Given the description of an element on the screen output the (x, y) to click on. 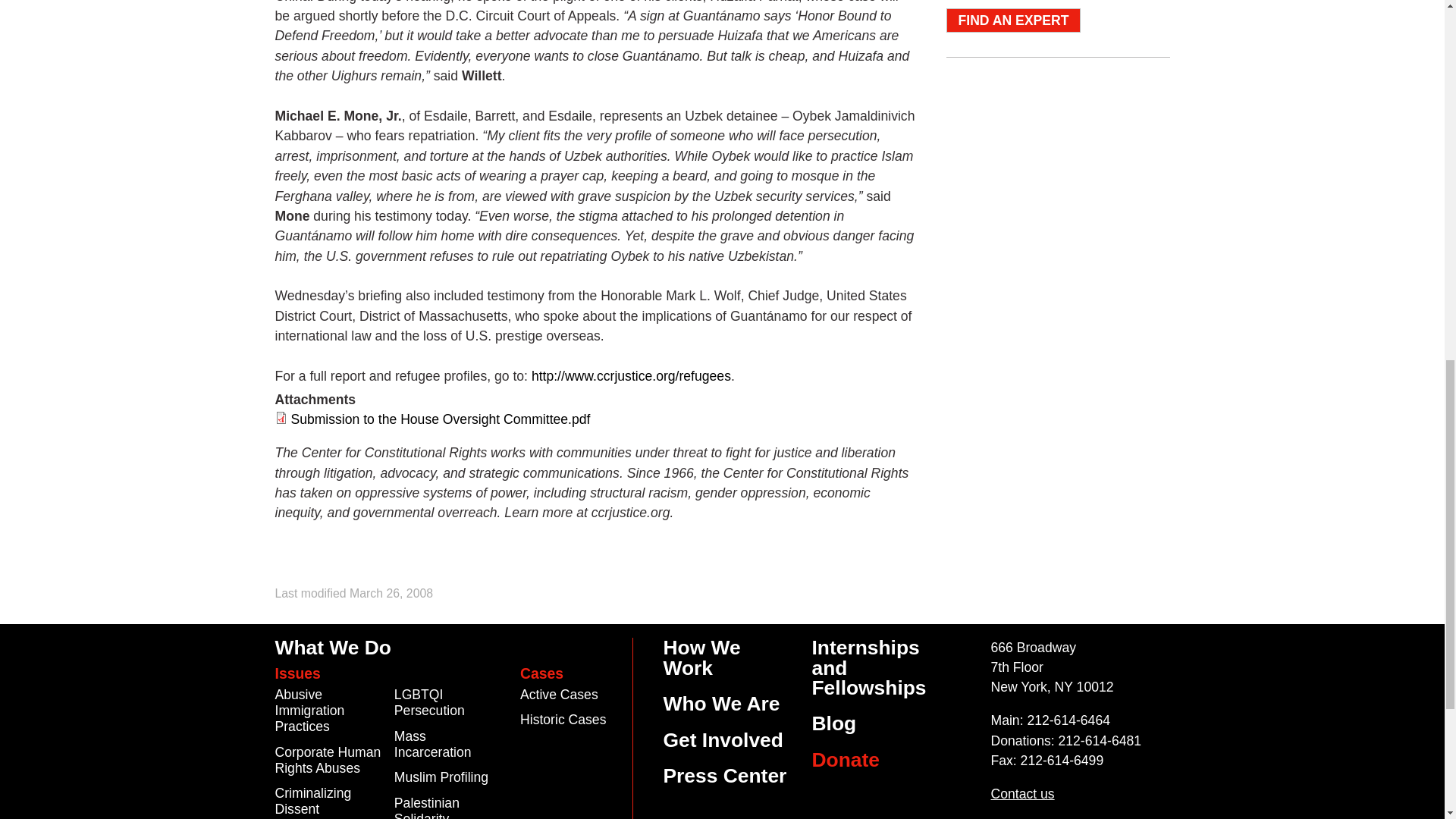
Center for Constitutional Rights (283, 34)
Home page (283, 34)
